Given the description of an element on the screen output the (x, y) to click on. 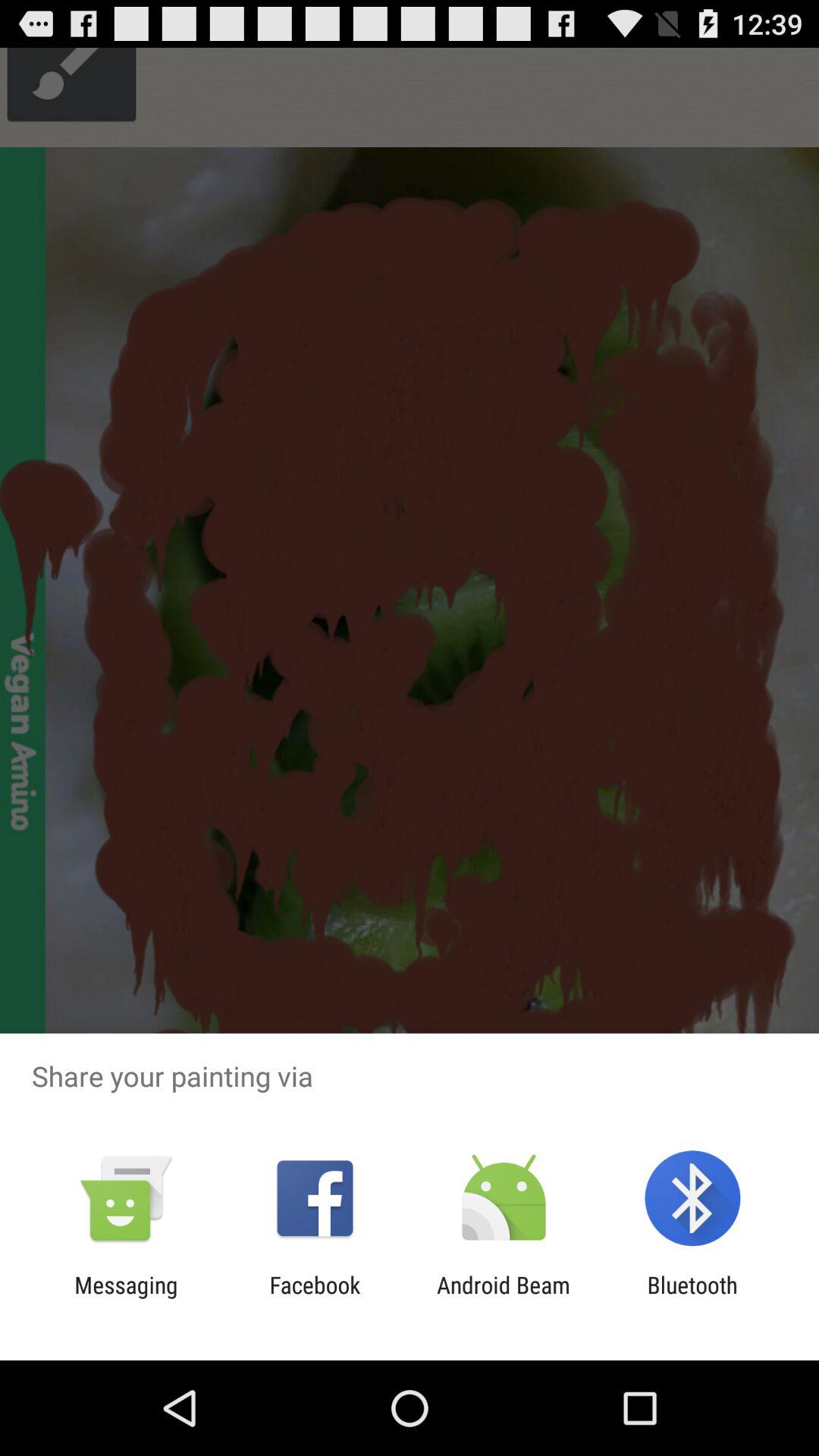
swipe to android beam item (503, 1298)
